Given the description of an element on the screen output the (x, y) to click on. 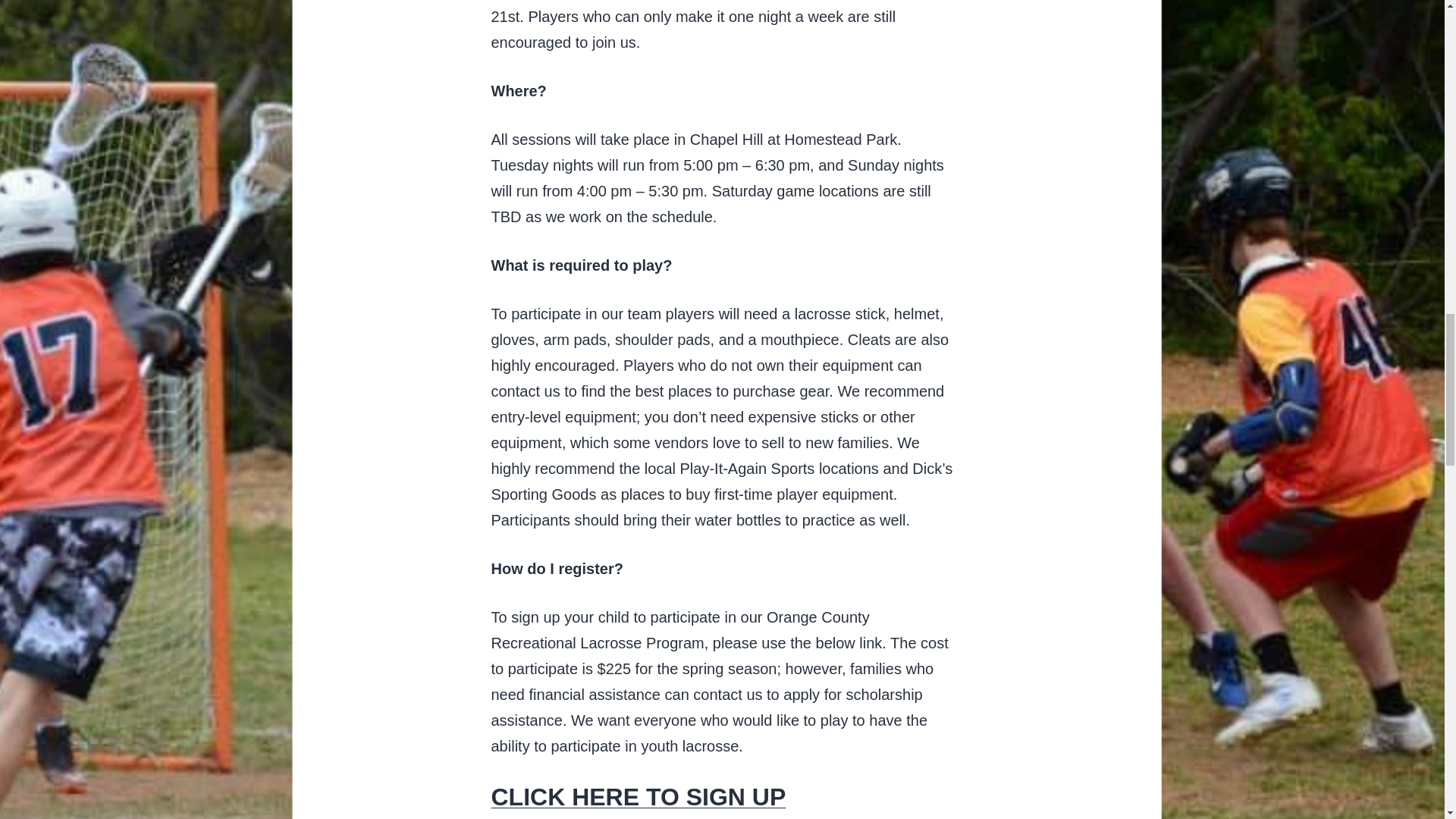
CLICK HERE TO SIGN UP (639, 796)
